Given the description of an element on the screen output the (x, y) to click on. 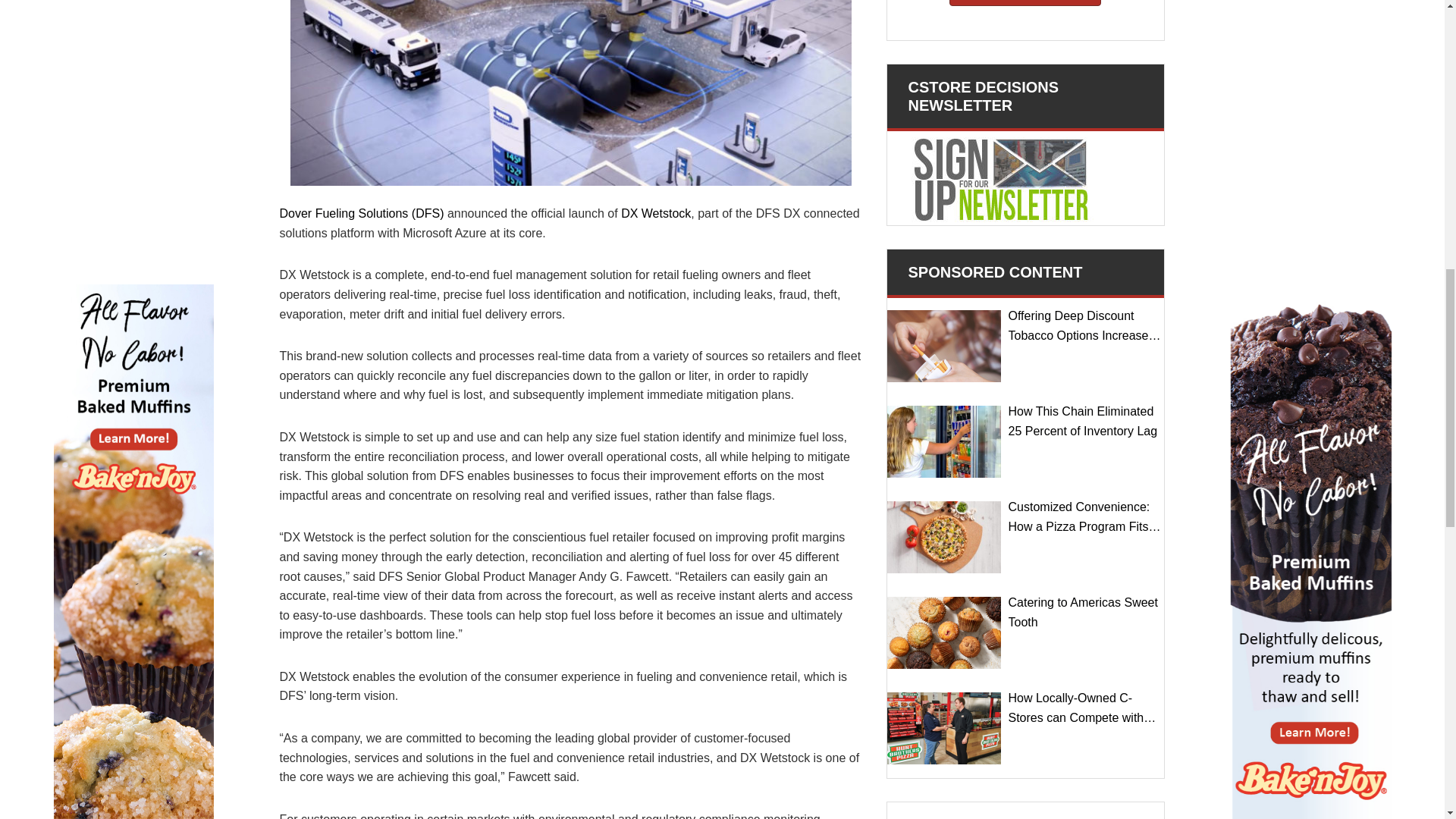
Offering Deep Discount Tobacco Options Increases Revenue (943, 346)
How Locally-Owned C-Stores can Compete with National Chains (943, 728)
Catering to Americas Sweet Tooth (943, 633)
How This Chain Eliminated 25 Percent of Inventory Lag (943, 441)
